Given the description of an element on the screen output the (x, y) to click on. 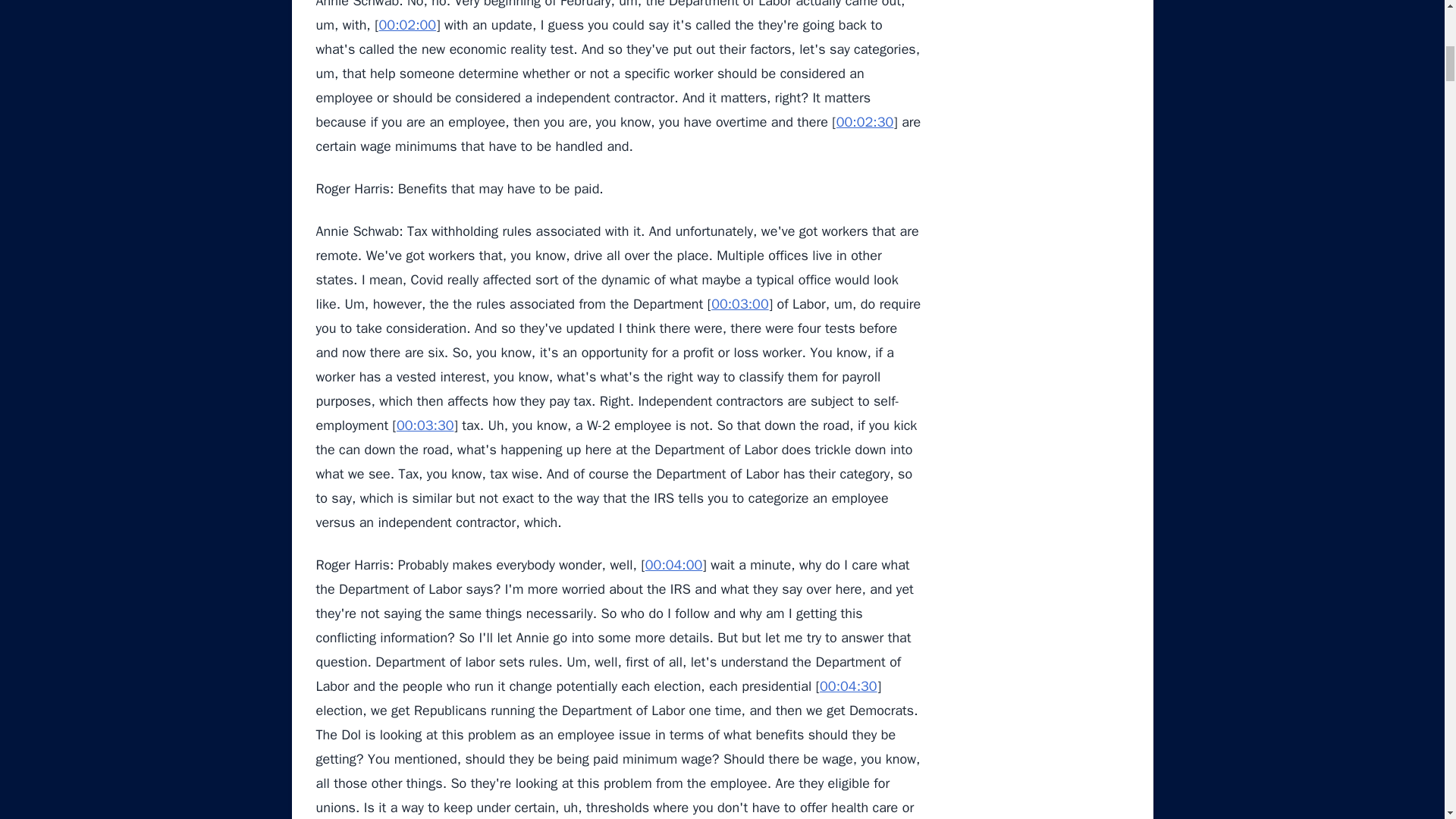
00:04:30 (848, 686)
00:02:30 (864, 121)
00:02:00 (407, 24)
00:03:30 (425, 425)
00:03:00 (739, 303)
00:04:00 (674, 564)
